Given the description of an element on the screen output the (x, y) to click on. 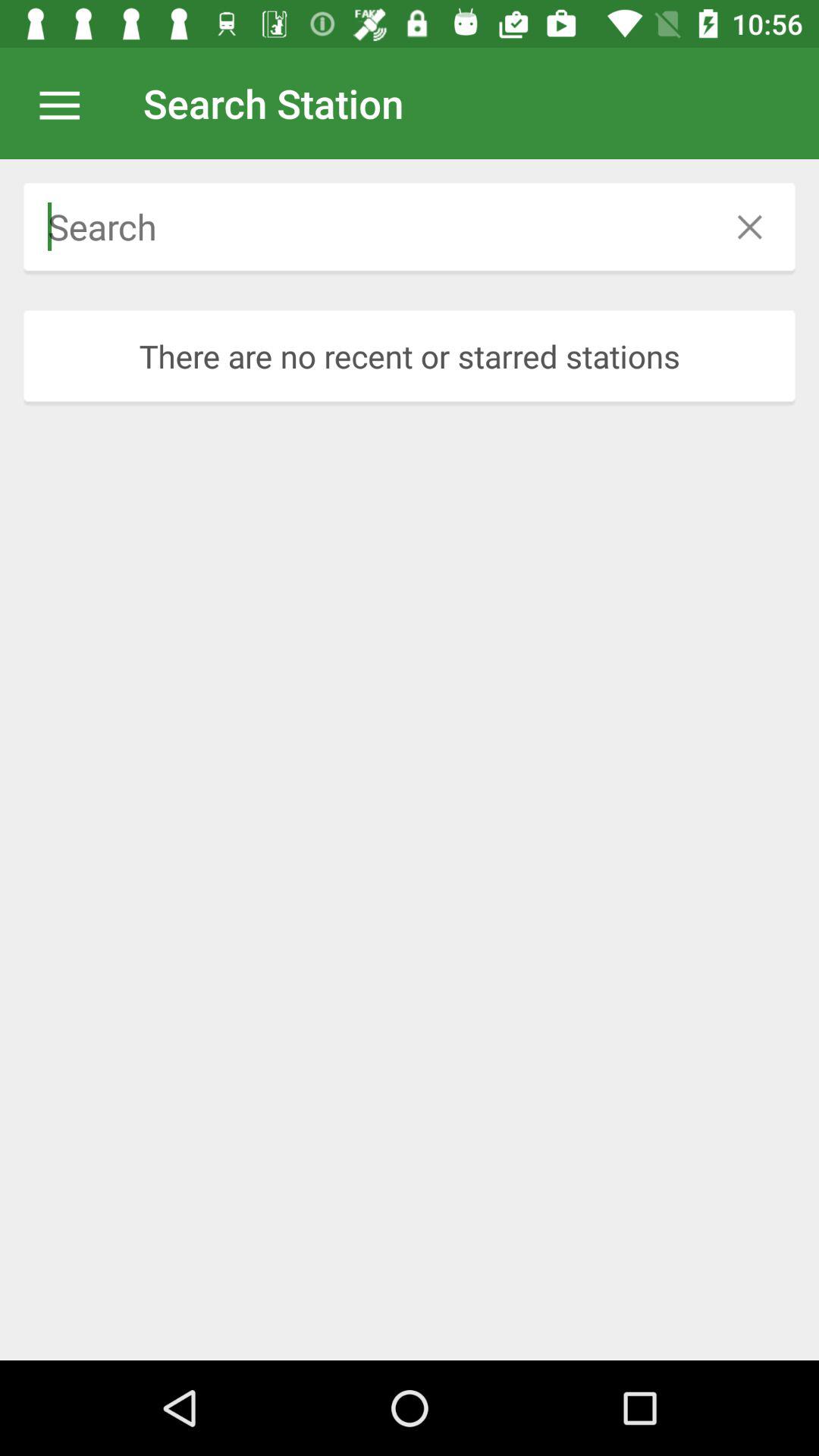
open icon above there are no (409, 222)
